Given the description of an element on the screen output the (x, y) to click on. 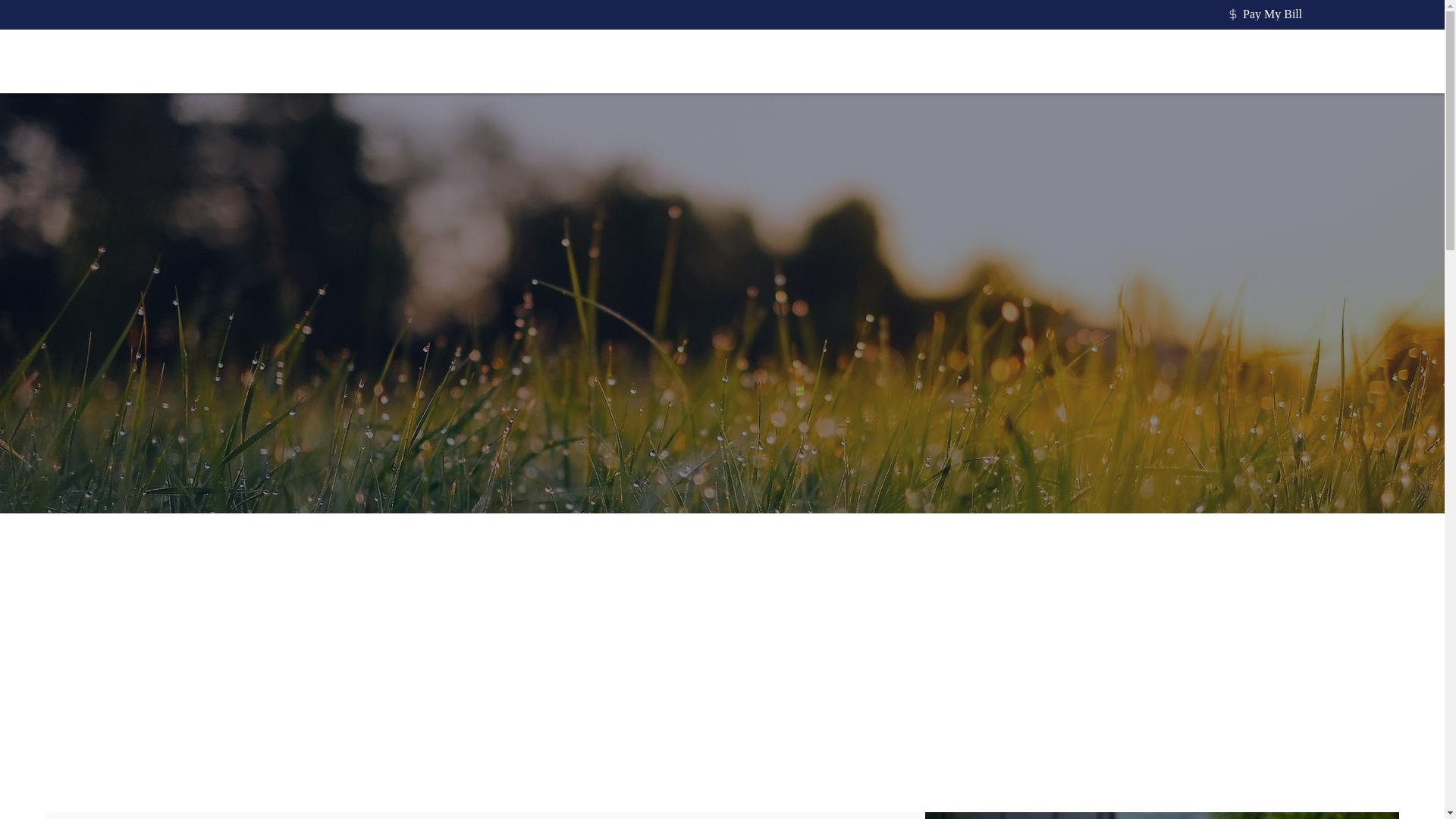
Pay My Bill (1267, 13)
